Given the description of an element on the screen output the (x, y) to click on. 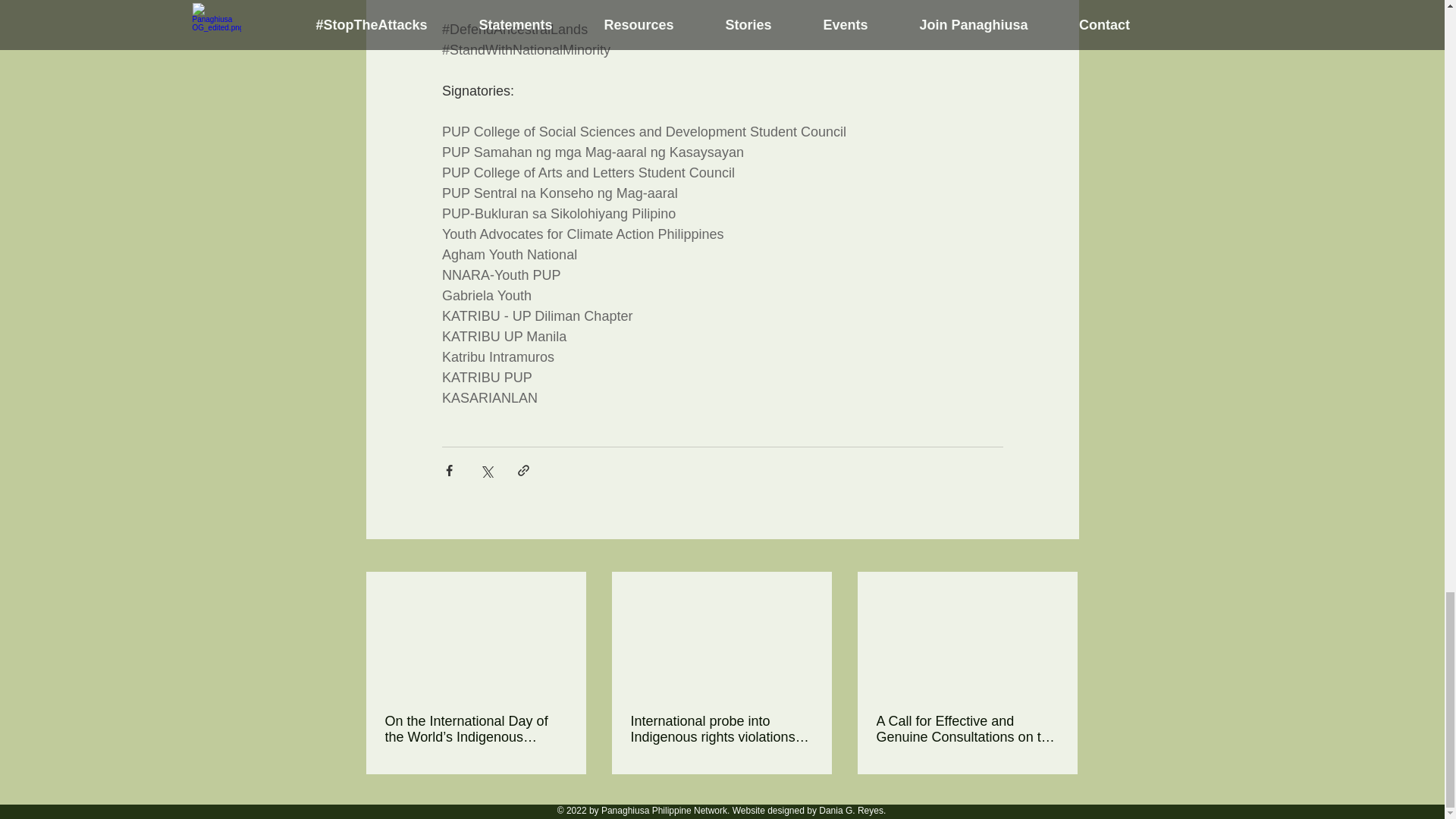
KATRIBU UP Manila (503, 336)
International probe into Indigenous rights violations sought (721, 729)
PUP-Bukluran sa Sikolohiyang Pilipino (558, 213)
Agham Youth National (508, 254)
Youth Advocates for Climate Action Philippines (582, 233)
KATRIBU PUP (486, 377)
KATRIBU - UP Diliman Chapter (536, 315)
NNARA-Youth PUP (500, 274)
